Given the description of an element on the screen output the (x, y) to click on. 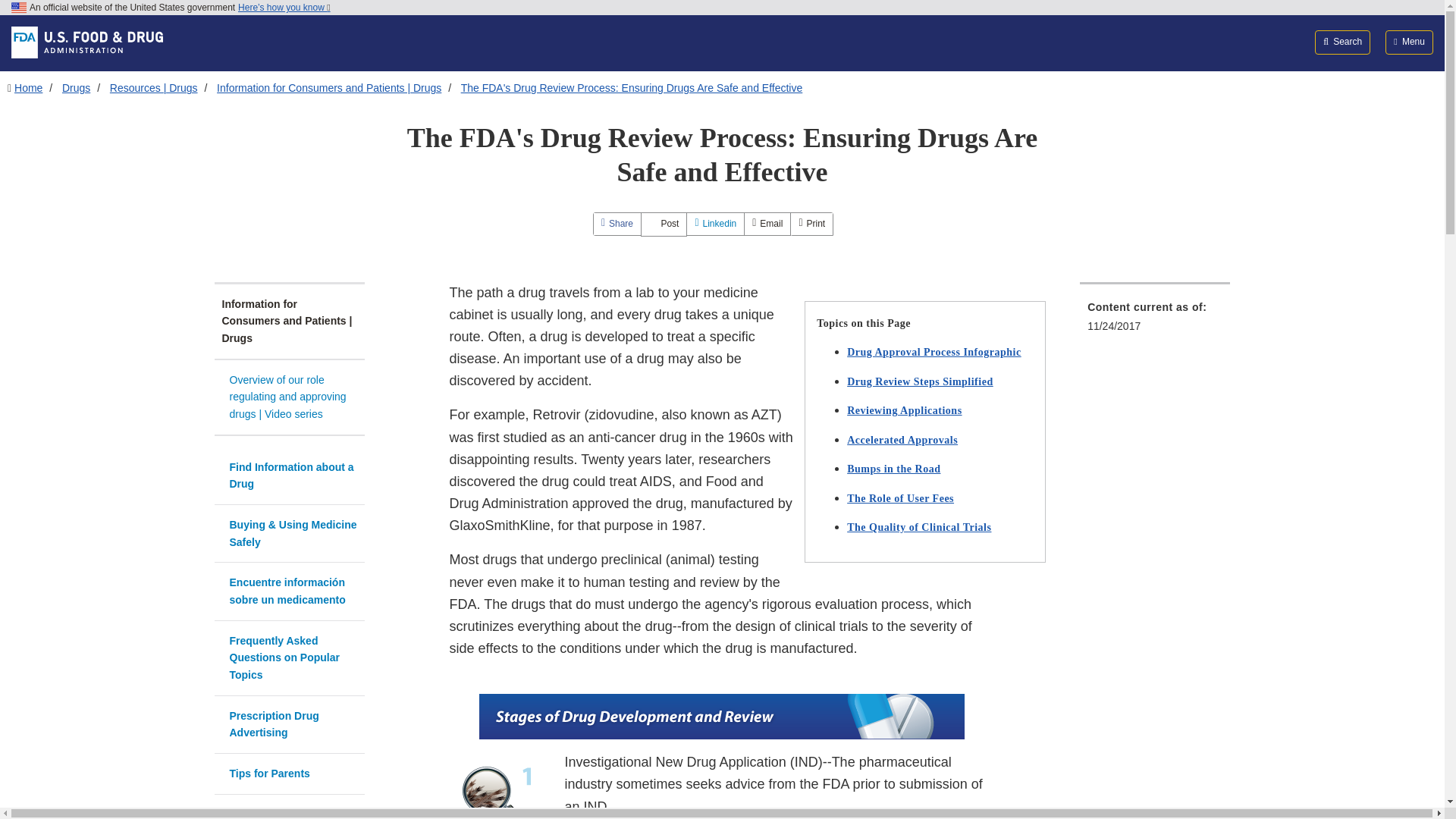
  Menu (1409, 42)
Print this page (811, 223)
Animal Testing Icon (500, 785)
  Search (1342, 42)
Stages of Drug Development and Review Banner (721, 716)
